Given the description of an element on the screen output the (x, y) to click on. 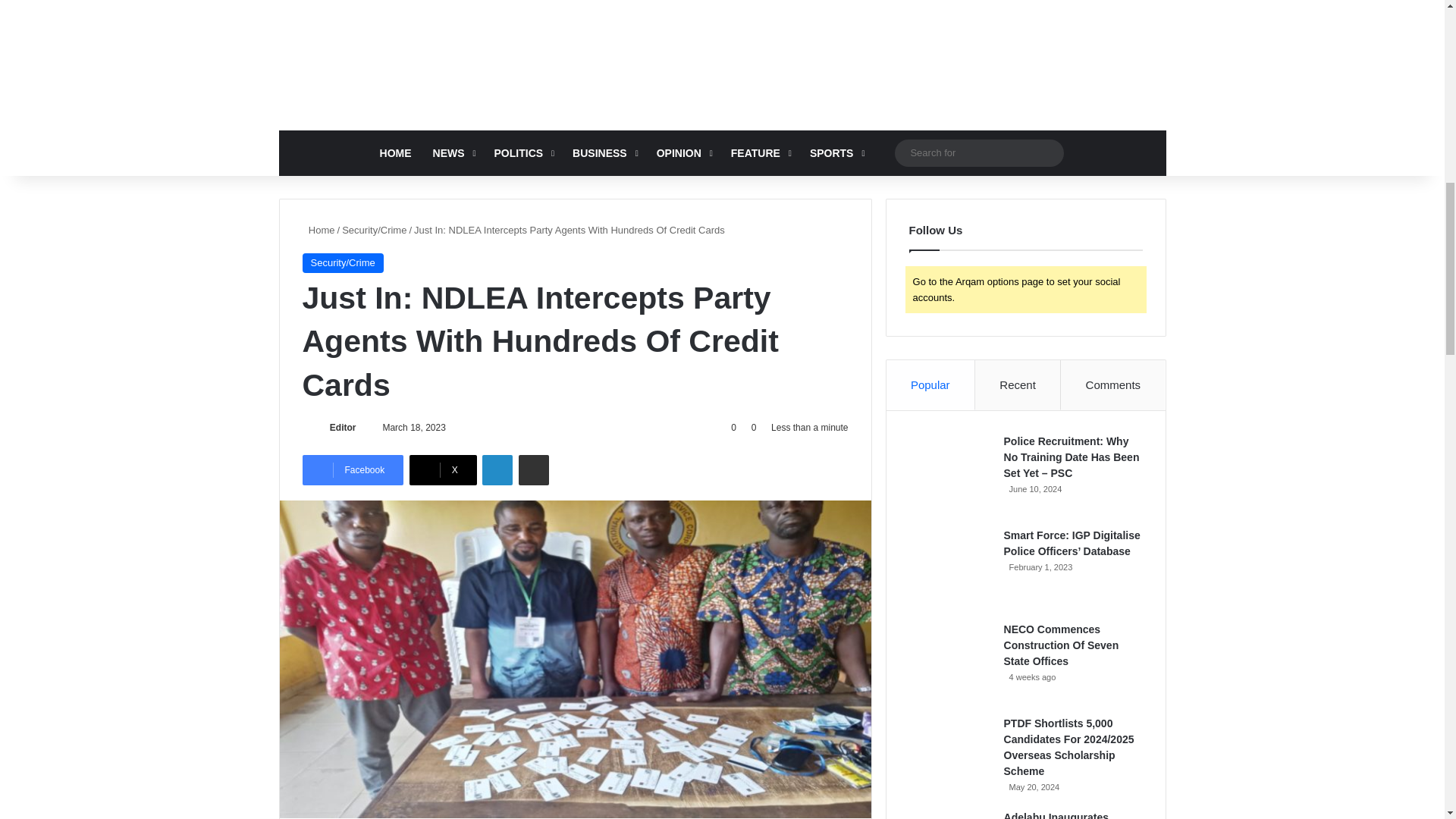
X (443, 470)
Search for (979, 152)
LinkedIn (496, 470)
NEWS (452, 153)
TheFact Daily (722, 49)
Facebook (352, 470)
HOME (395, 153)
Share via Email (533, 470)
POLITICS (522, 153)
Editor (343, 427)
